Given the description of an element on the screen output the (x, y) to click on. 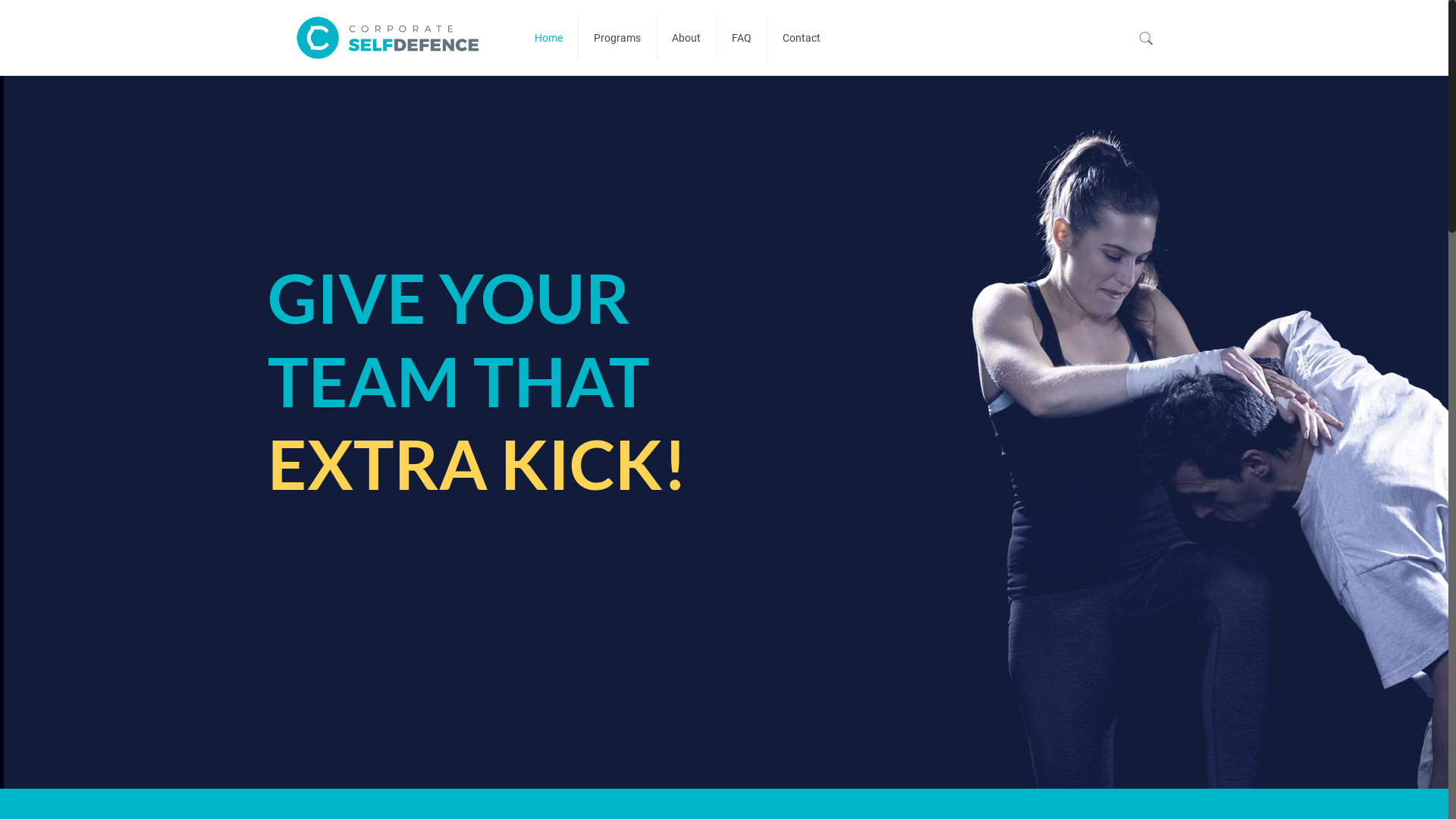
FAQ Element type: text (741, 37)
Home Element type: text (548, 37)
About Element type: text (686, 37)
Programs Element type: text (617, 37)
Contact Element type: text (801, 37)
